Given the description of an element on the screen output the (x, y) to click on. 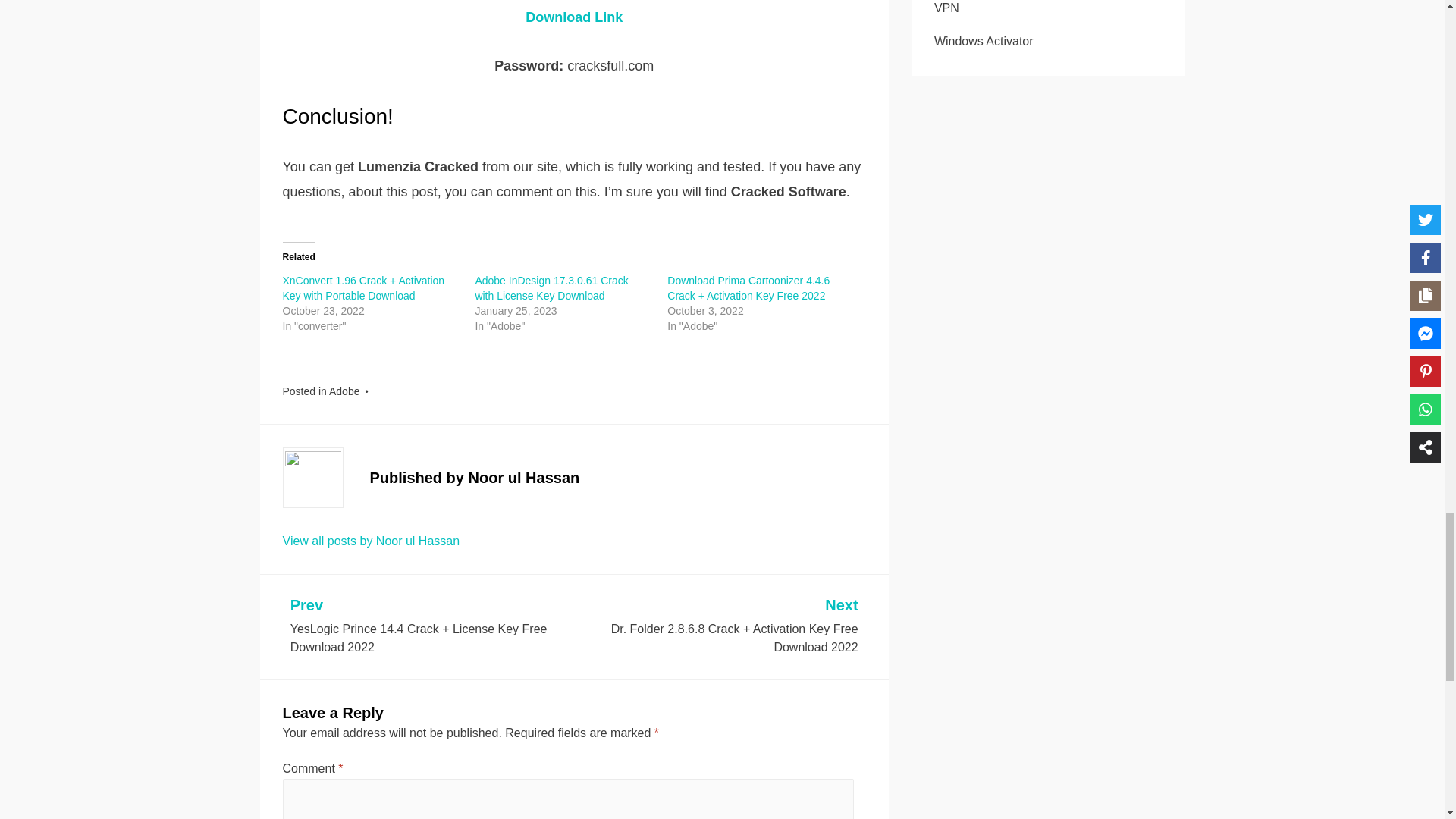
Adobe InDesign 17.3.0.61 Crack with License Key Download (550, 288)
Adobe InDesign 17.3.0.61 Crack with License Key Download (550, 288)
View all posts by Noor ul Hassan (371, 540)
Adobe (344, 390)
Download Link (574, 17)
